Given the description of an element on the screen output the (x, y) to click on. 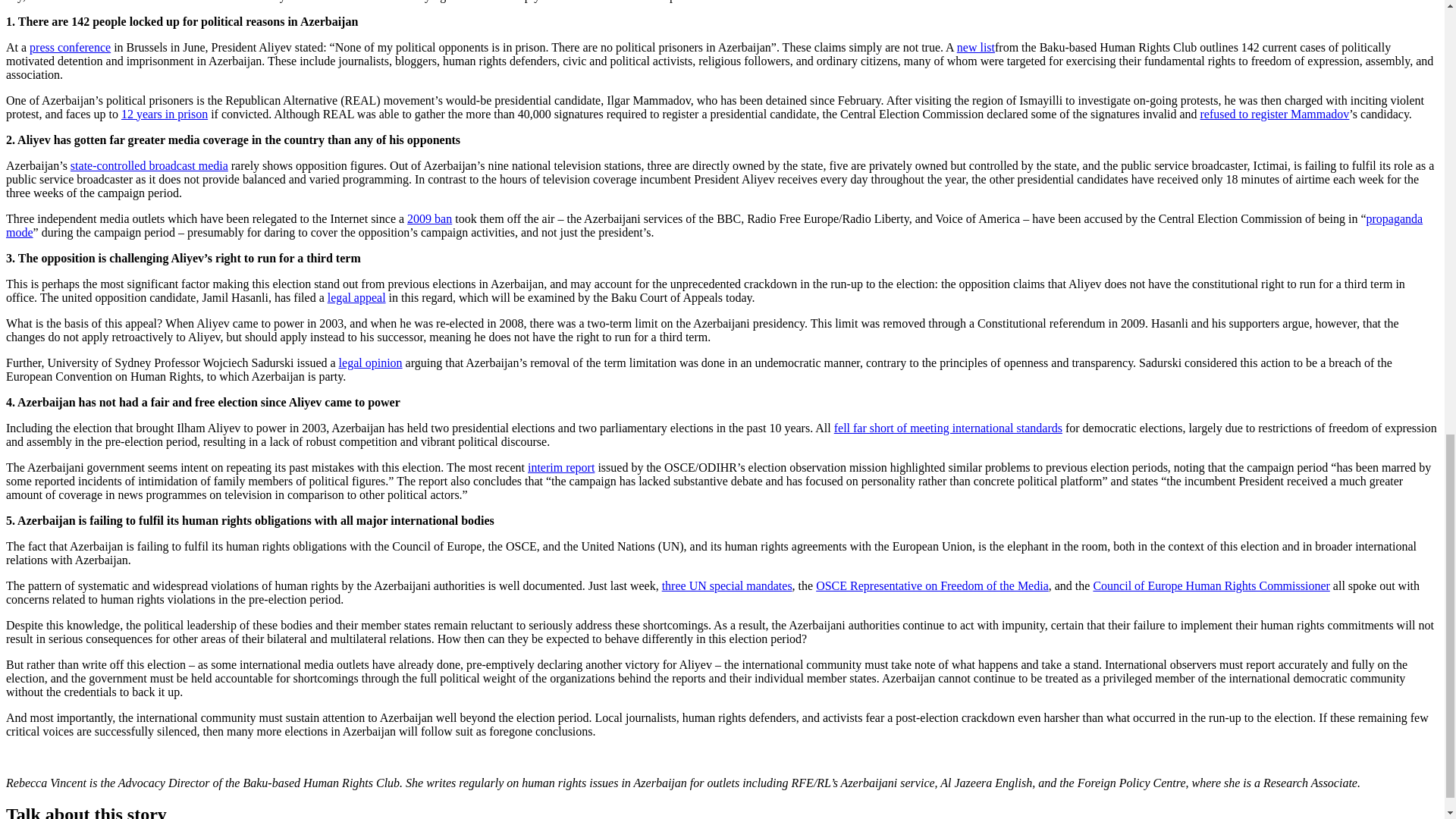
12 years in prison (164, 113)
state-controlled broadcast media (148, 164)
three UN special mandates (727, 584)
legal opinion (371, 361)
propaganda mode (713, 224)
Council of Europe Human Rights Commissioner (1211, 584)
press conference (69, 46)
refused to register Mammadov (1274, 113)
new list (975, 46)
legal appeal (356, 296)
fell far short of meeting international standards (948, 427)
interim report (560, 466)
OSCE Representative on Freedom of the Media (931, 584)
2009 ban (429, 217)
